Given the description of an element on the screen output the (x, y) to click on. 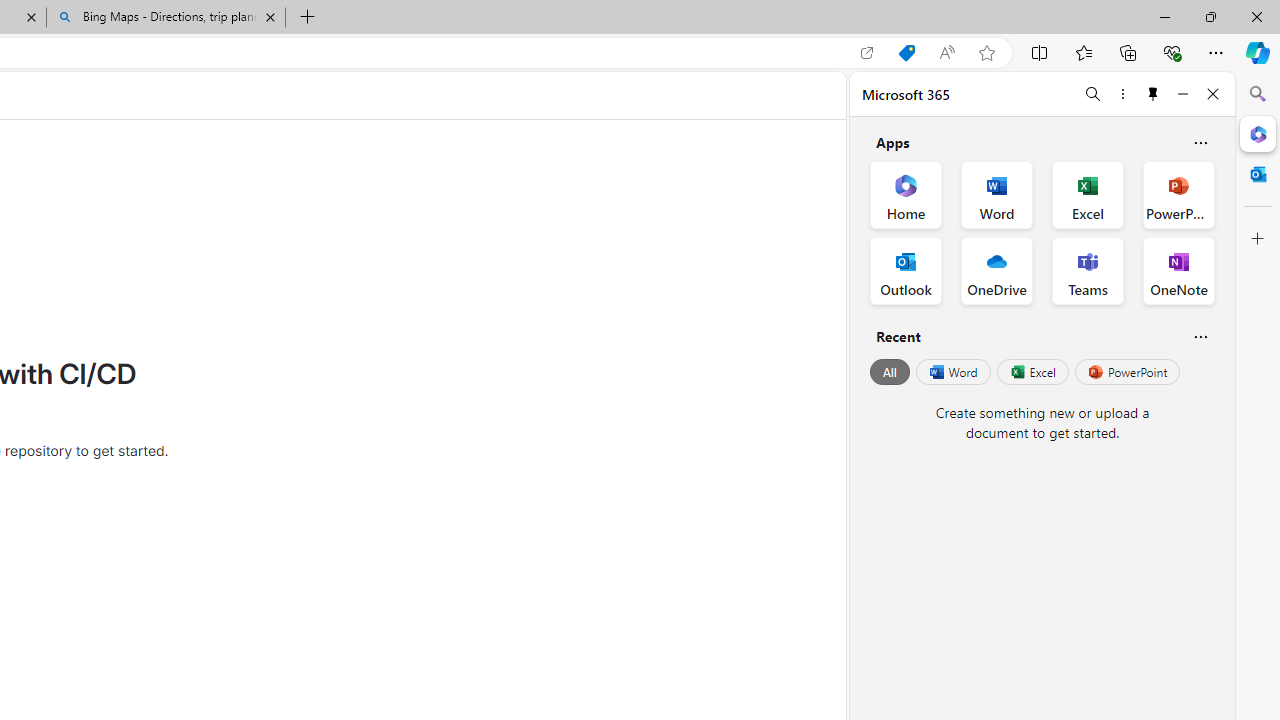
PowerPoint (1127, 372)
